Given the description of an element on the screen output the (x, y) to click on. 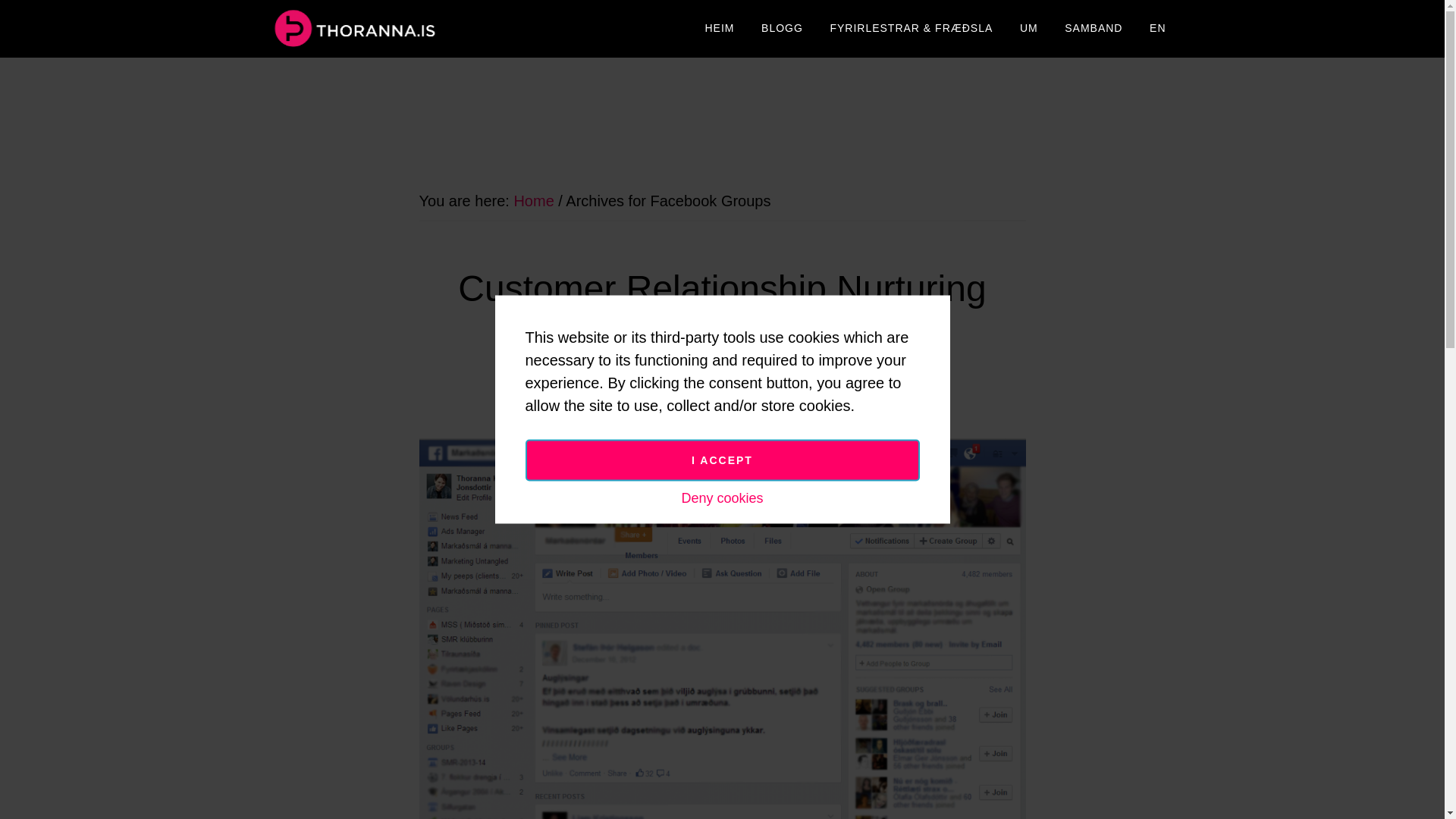
THORANNA.IS (403, 28)
Customer Relationship Nurturing With Online Groups (721, 310)
HEIM (719, 28)
BLOGG (781, 28)
SAMBAND (1093, 28)
Deny cookies (721, 497)
Home (533, 200)
I ACCEPT (721, 460)
